Given the description of an element on the screen output the (x, y) to click on. 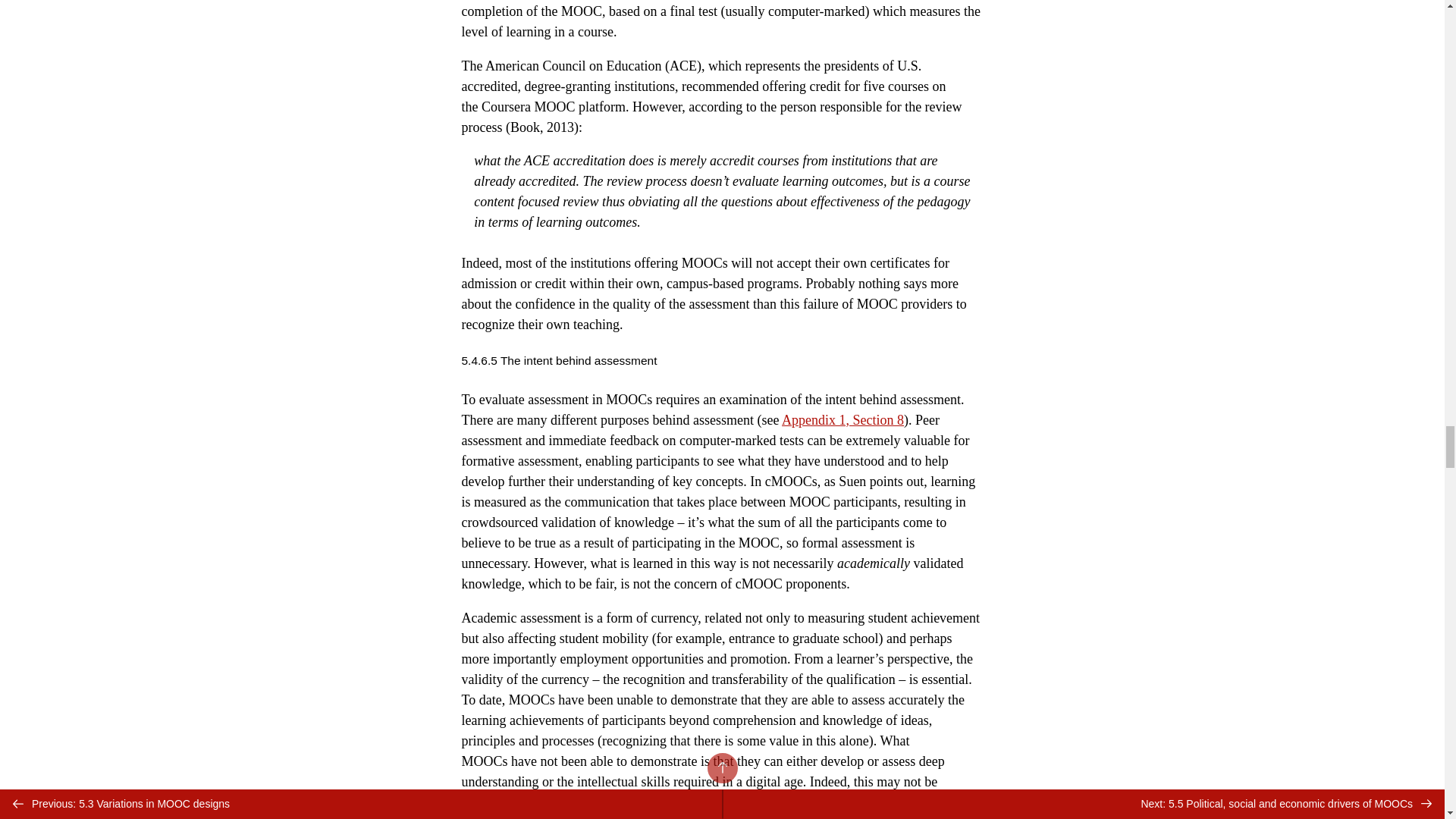
Appendix 1, Section 8 (842, 419)
